Given the description of an element on the screen output the (x, y) to click on. 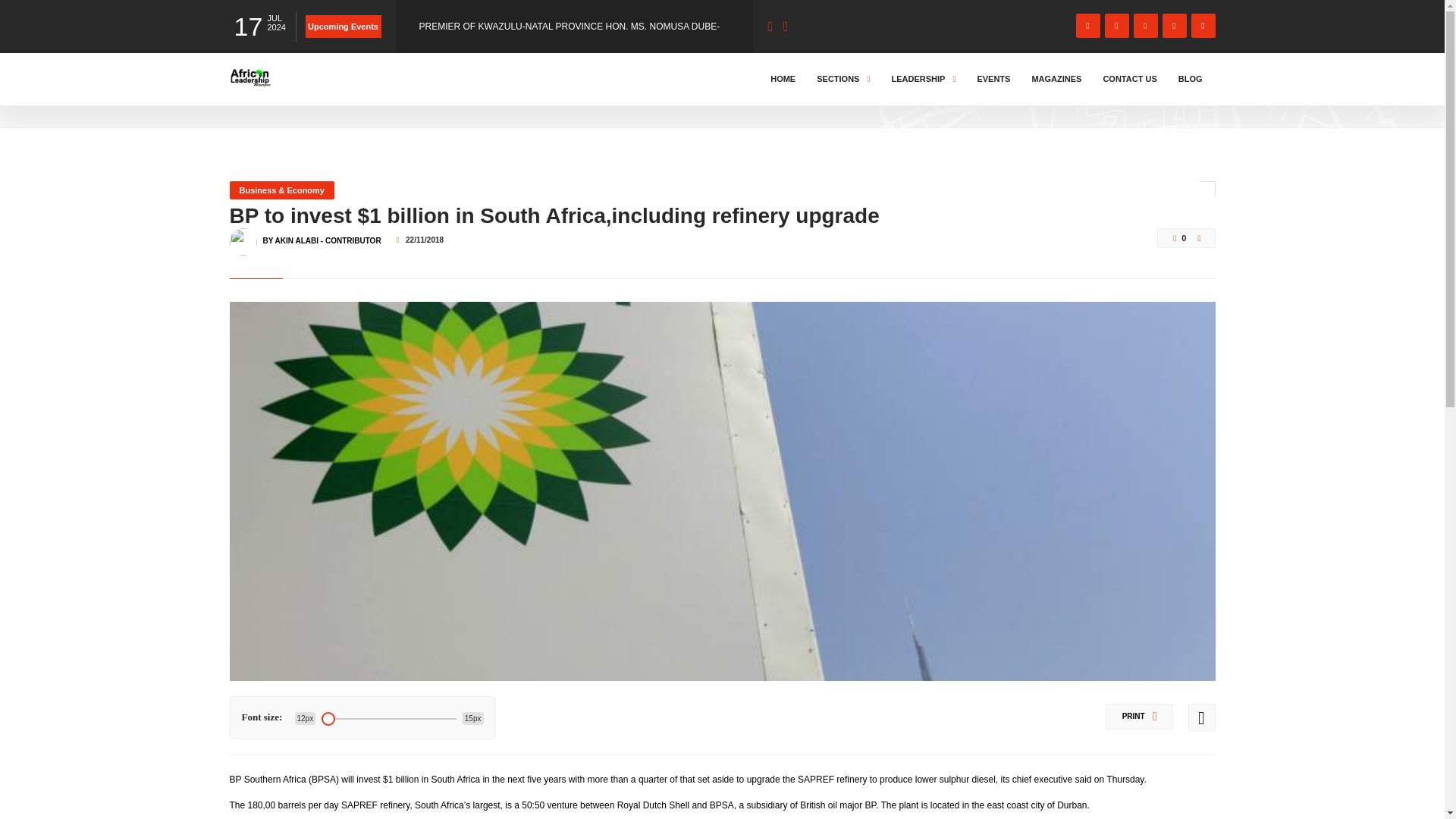
HOME (246, 92)
EVENTS (992, 79)
BY AKIN ALABI - CONTRIBUTOR (321, 233)
MAGAZINES (1056, 79)
LEADERSHIP (922, 79)
BLOG (1190, 79)
PRINT (1139, 716)
BLOG (293, 92)
CONTACT US (1129, 79)
SECTIONS (842, 79)
HOME (782, 79)
Scroll Down To Discover (1154, 88)
